Given the description of an element on the screen output the (x, y) to click on. 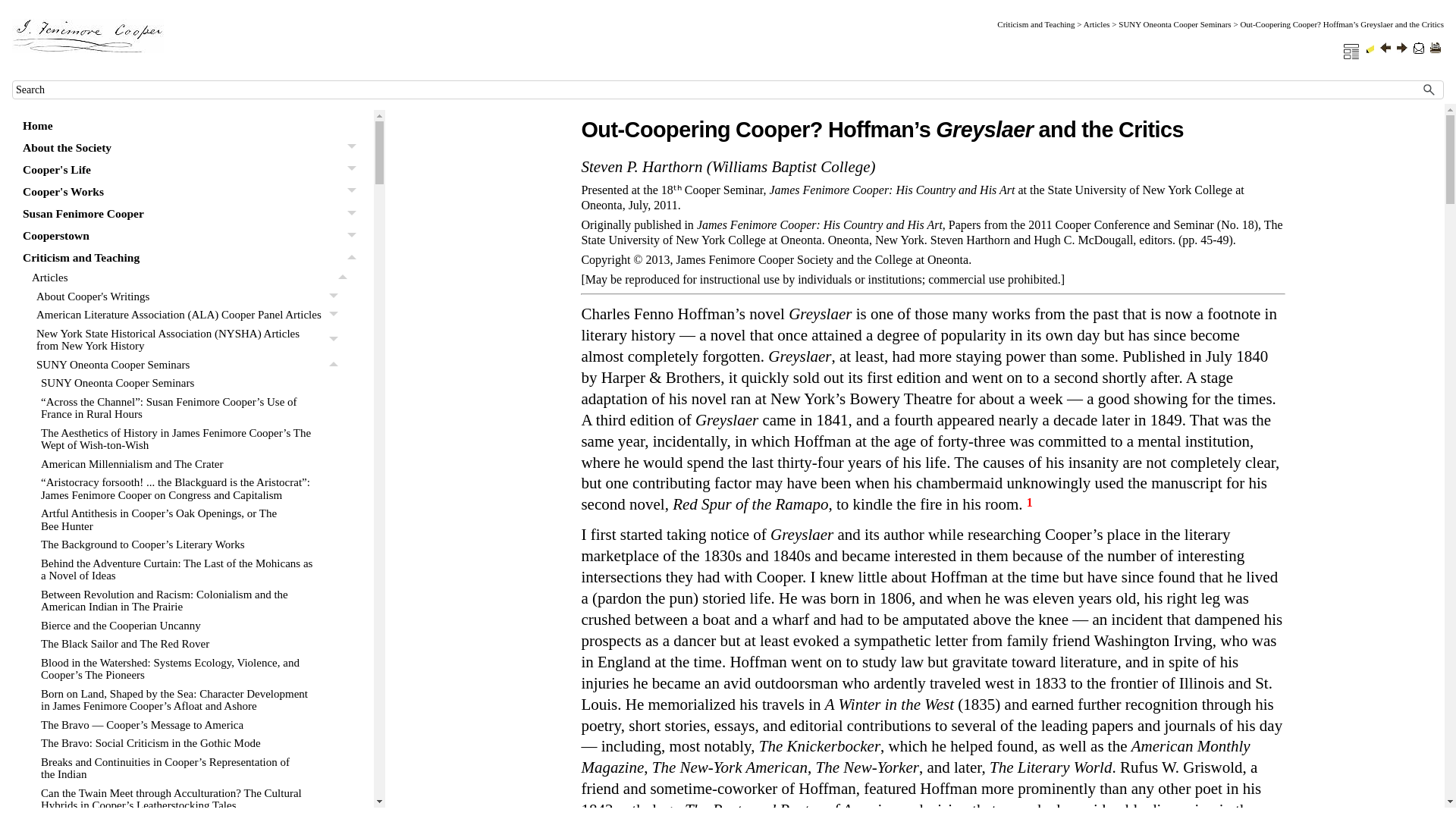
Send your feedback (1418, 48)
Search (1428, 89)
Print this page (1435, 47)
Hide TOC (1350, 51)
Previous page (1385, 47)
Next page (1401, 47)
